Given the description of an element on the screen output the (x, y) to click on. 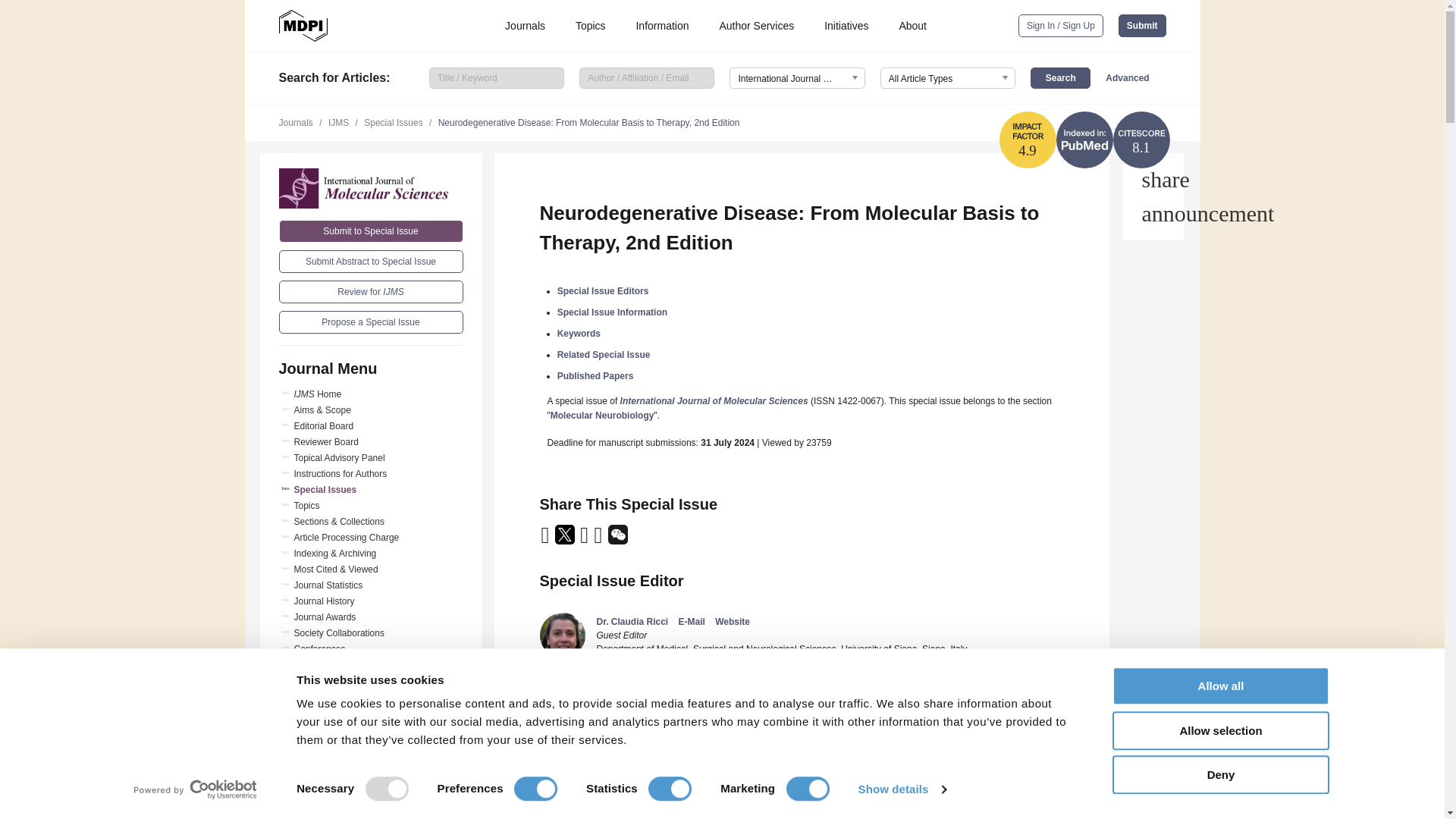
Search (1060, 77)
Search (1060, 77)
Go (371, 785)
Show details (900, 789)
